Given the description of an element on the screen output the (x, y) to click on. 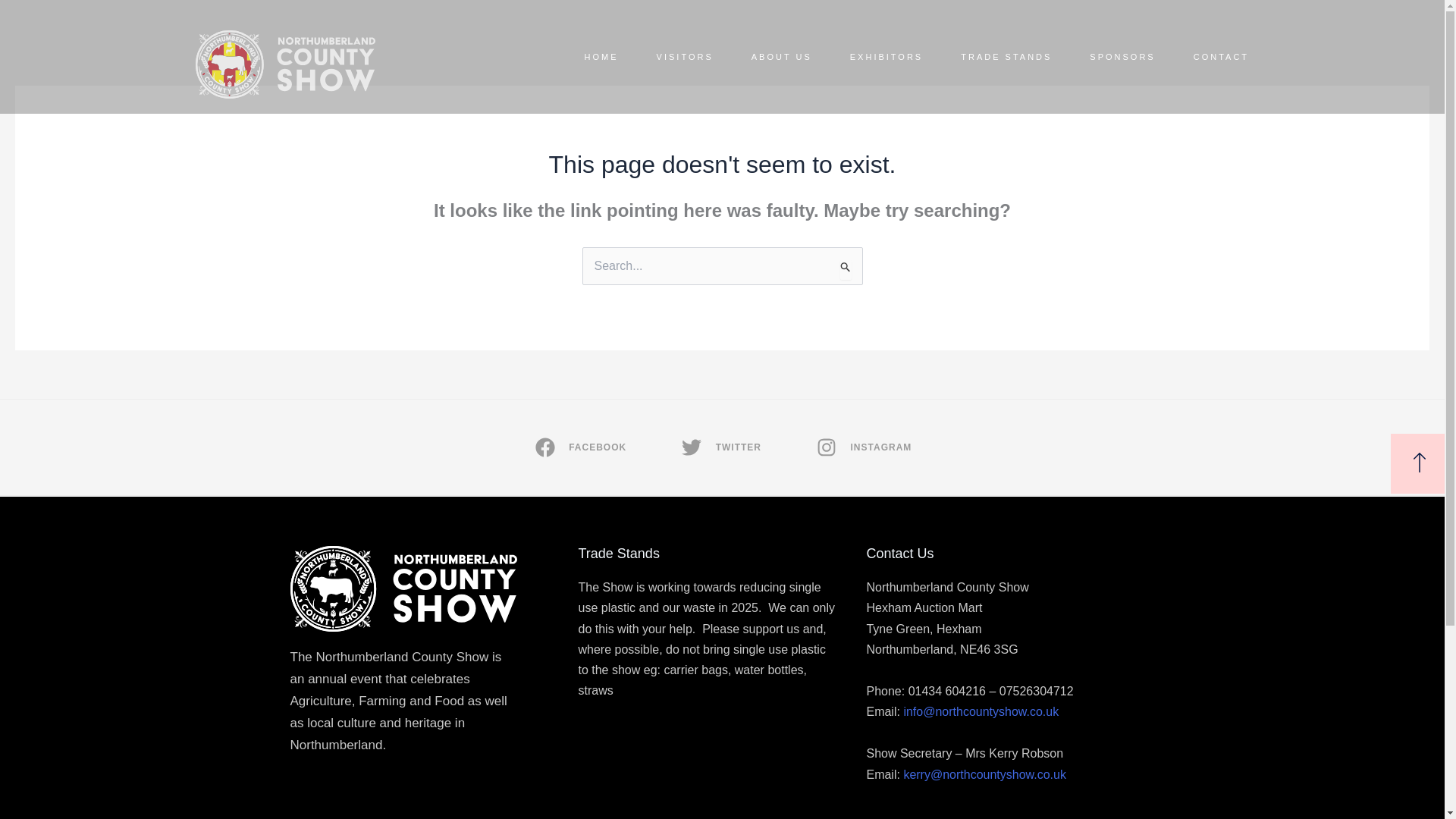
VISITORS (684, 56)
HOME (601, 56)
CONTACT (1221, 56)
ABOUT US (781, 56)
EXHIBITORS (886, 56)
TWITTER (720, 447)
SPONSORS (1121, 56)
TRADE STANDS (1005, 56)
FACEBOOK (579, 447)
INSTAGRAM (862, 447)
